Given the description of an element on the screen output the (x, y) to click on. 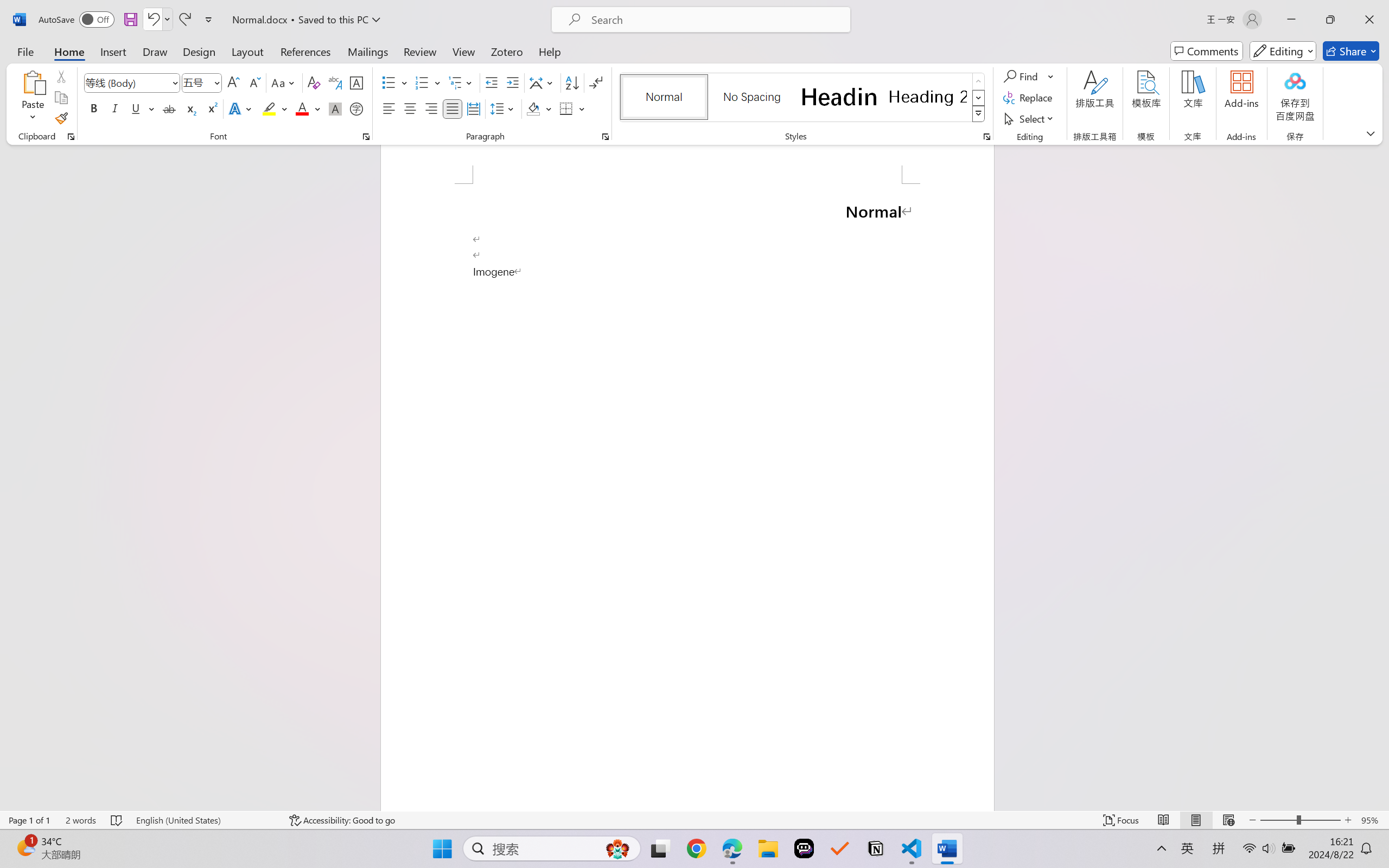
Page 1 content (687, 497)
Strikethrough (169, 108)
Character Shading (334, 108)
Multilevel List (461, 82)
Shading RGB(0, 0, 0) (533, 108)
Text Effects and Typography (241, 108)
Change Case (284, 82)
